Given the description of an element on the screen output the (x, y) to click on. 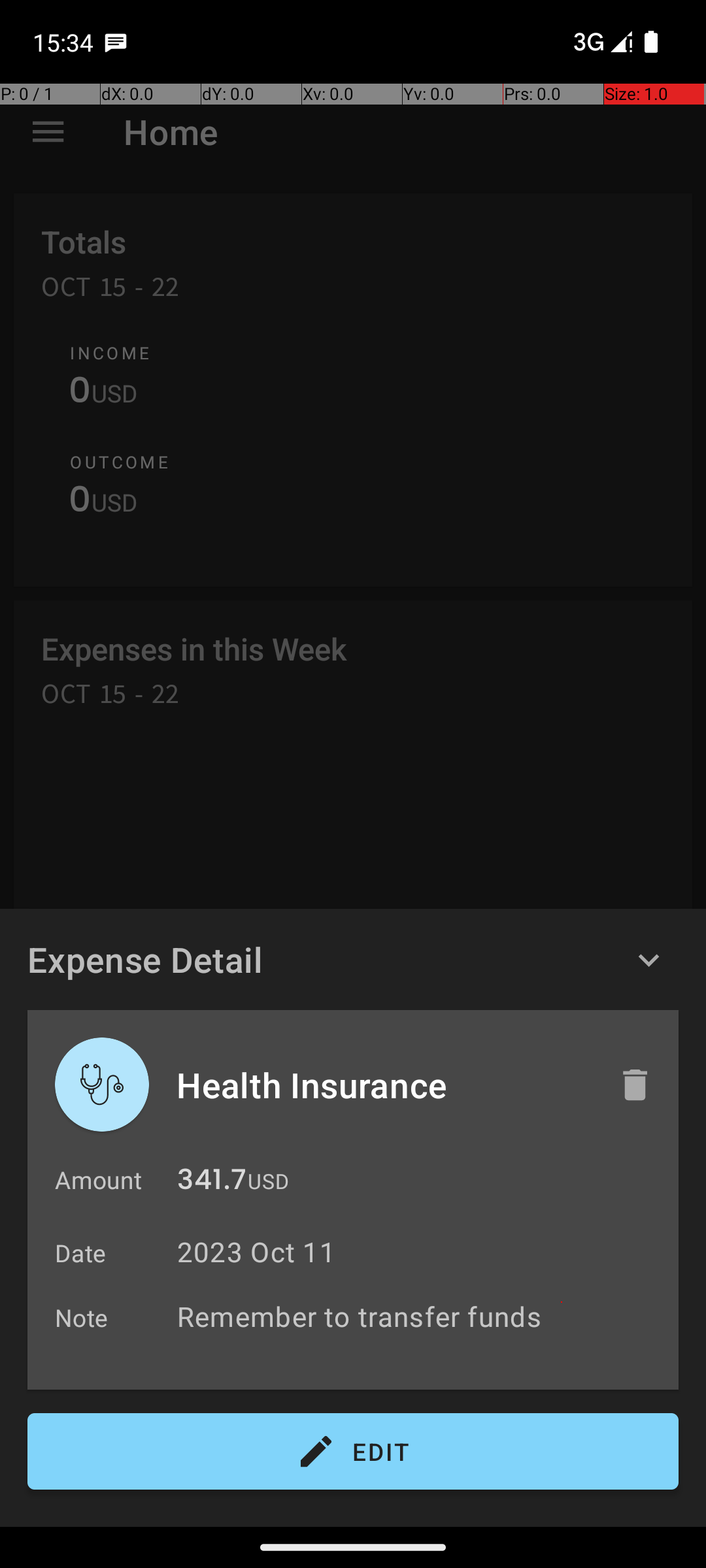
Health Insurance Element type: android.widget.TextView (383, 1084)
341.7 Element type: android.widget.TextView (211, 1182)
2023 Oct 11 Element type: android.widget.TextView (256, 1251)
Remember to transfer funds Element type: android.widget.TextView (420, 1315)
